Given the description of an element on the screen output the (x, y) to click on. 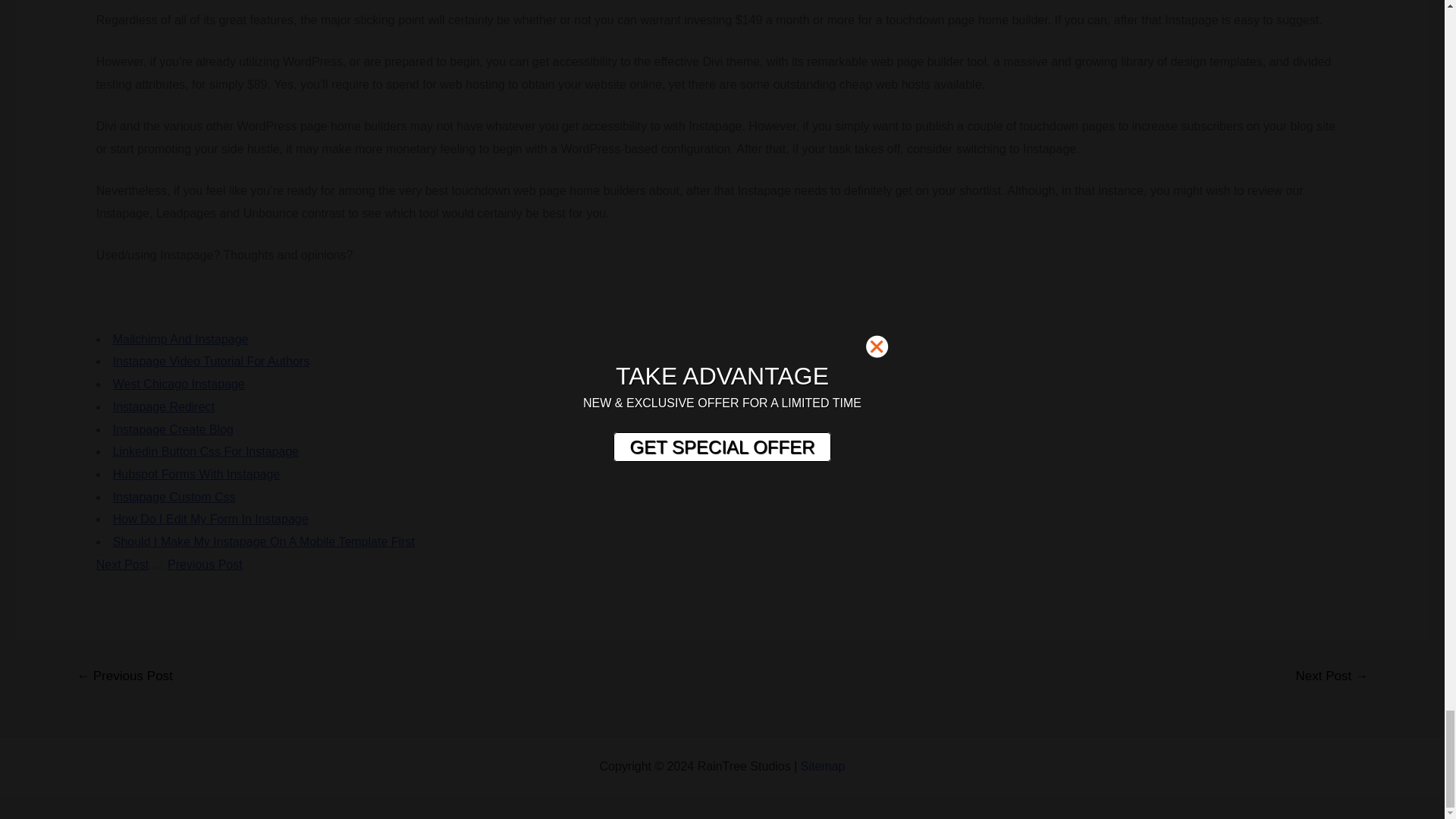
Previous Post (205, 563)
Hubspot Forms With Instapage (197, 473)
Hubspot Forms With Instapage (197, 473)
Sitemap (822, 766)
Instapage Redirect (163, 406)
Linkedin Button Css For Instapage (205, 451)
Instapage Create Blog (172, 429)
How Do I Edit My Form In Instapage (210, 518)
West Chicago Instapage (178, 383)
Should I Make My Instapage On A Mobile Template First (263, 541)
